Given the description of an element on the screen output the (x, y) to click on. 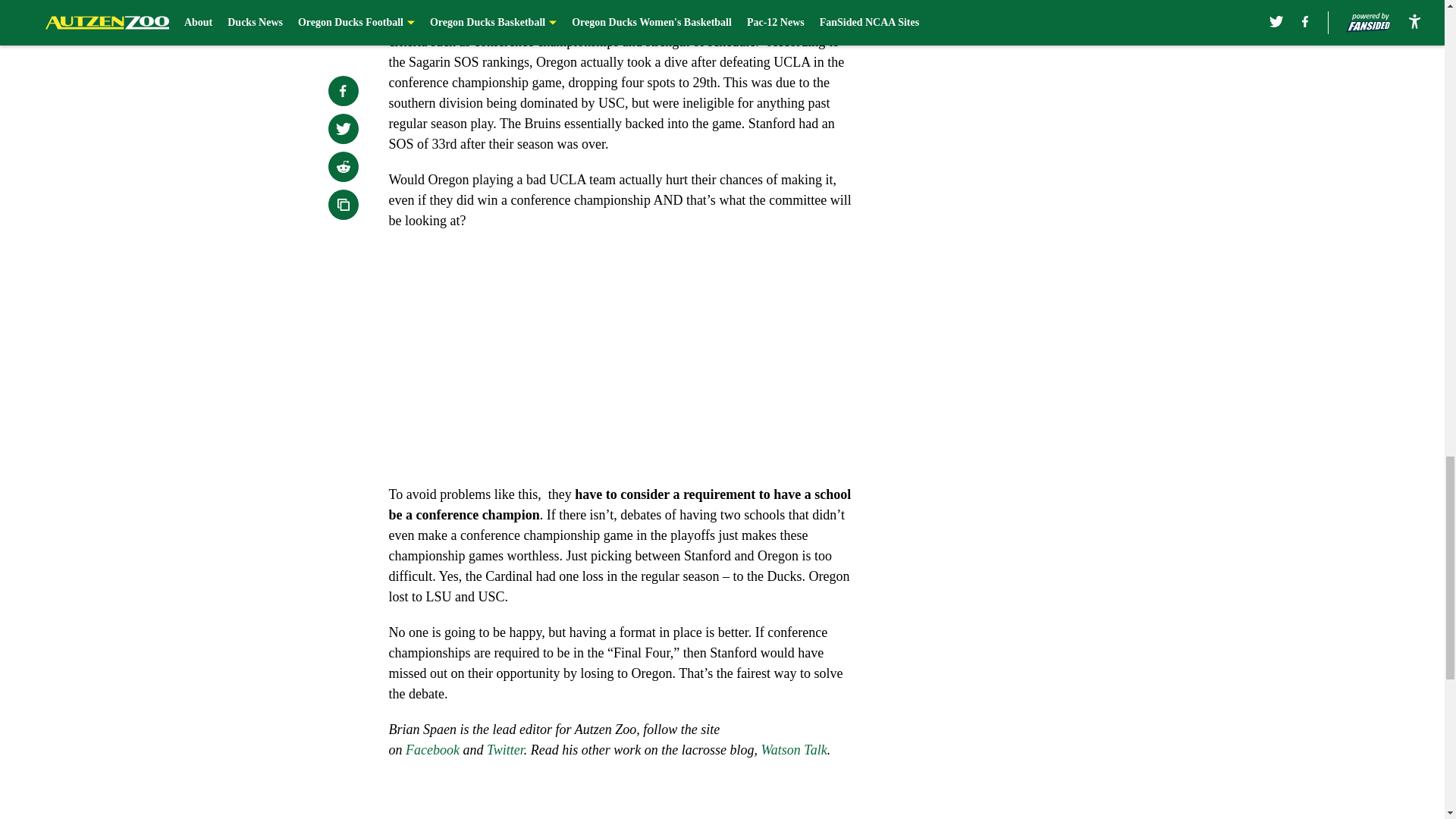
Facebook (433, 749)
an ESPN report yesterday (533, 20)
Watson Talk (793, 749)
Twitter (505, 749)
